Given the description of an element on the screen output the (x, y) to click on. 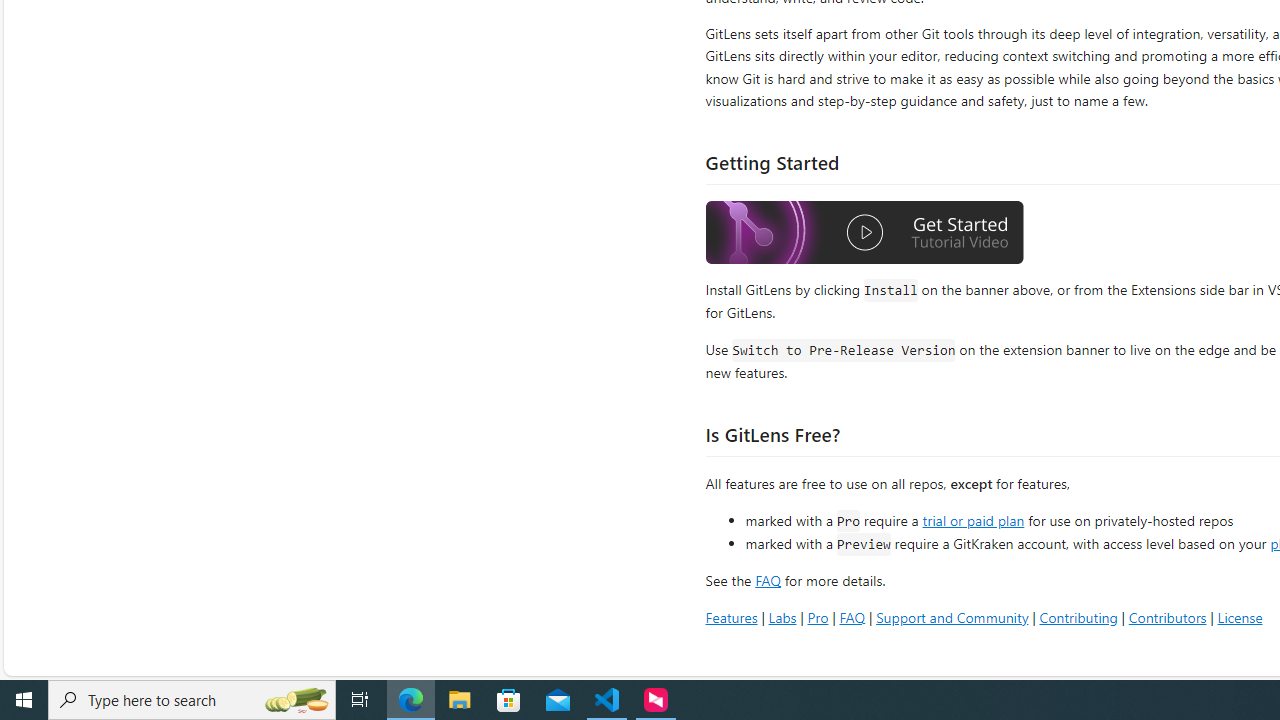
Contributing (1078, 616)
Labs (782, 616)
trial or paid plan (973, 519)
Pro (817, 616)
Watch the GitLens Getting Started video (865, 232)
Watch the GitLens Getting Started video (865, 235)
Contributors (1167, 616)
FAQ (852, 616)
Features (731, 616)
License (1240, 616)
Support and Community (952, 616)
